Given the description of an element on the screen output the (x, y) to click on. 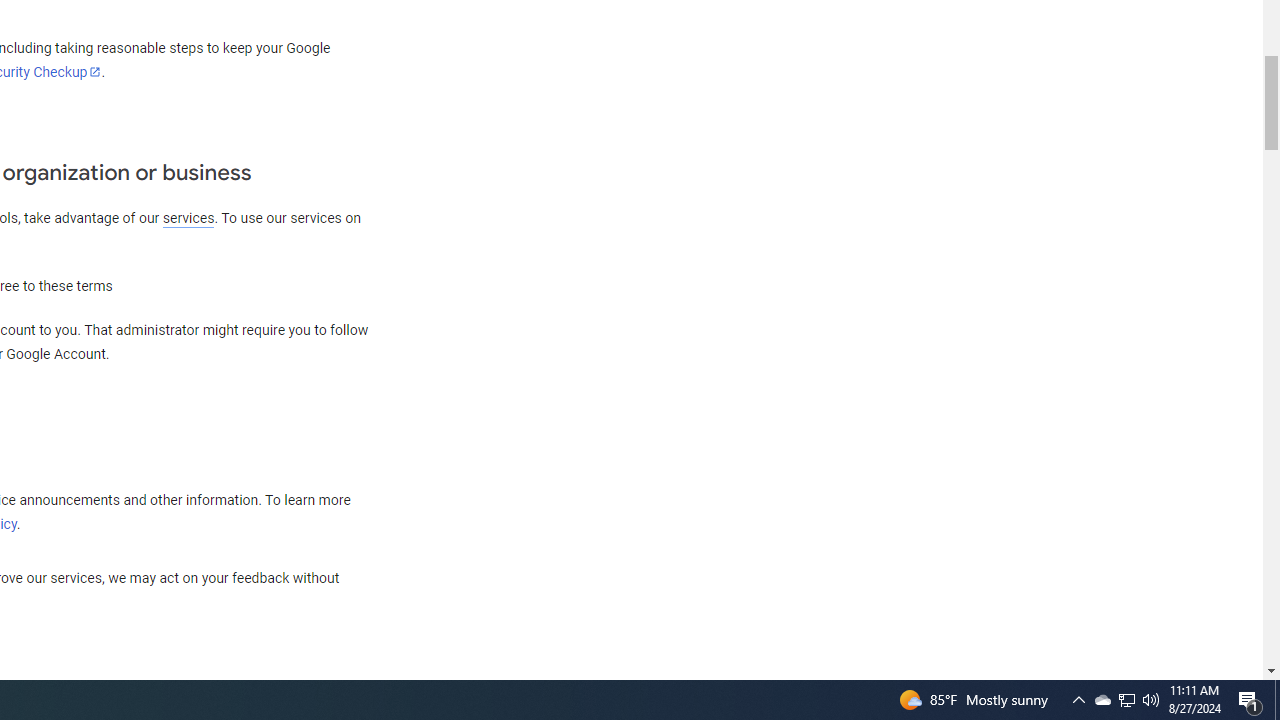
services (188, 218)
